Given the description of an element on the screen output the (x, y) to click on. 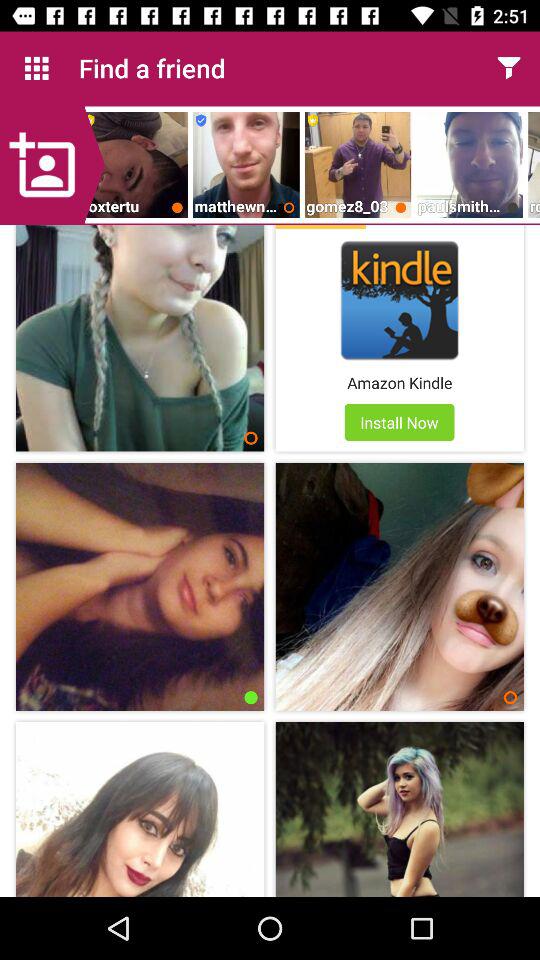
select the icon below sponsored item (399, 300)
